Given the description of an element on the screen output the (x, y) to click on. 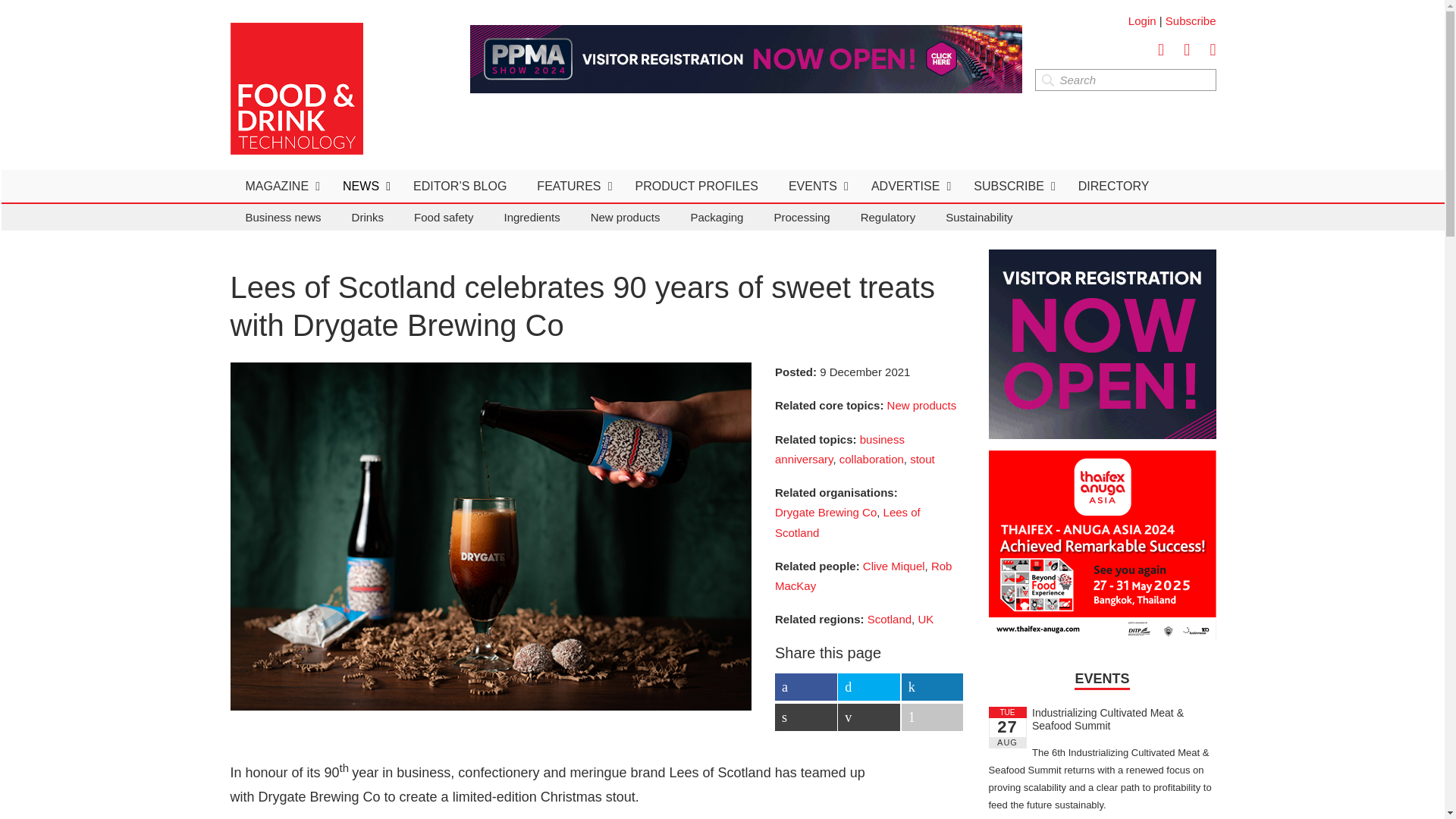
Business news (283, 216)
FEATURES (570, 185)
Share on Twitter (868, 687)
Share on More Button (932, 717)
Search (1124, 79)
NEWS (362, 185)
EVENTS (814, 185)
Subscribe (1190, 20)
DIRECTORY (1113, 185)
Drinks (367, 216)
Login (1142, 20)
ADVERTISE (907, 185)
SUBSCRIBE (1010, 185)
Share on Email (868, 717)
Share on Print (805, 717)
